Given the description of an element on the screen output the (x, y) to click on. 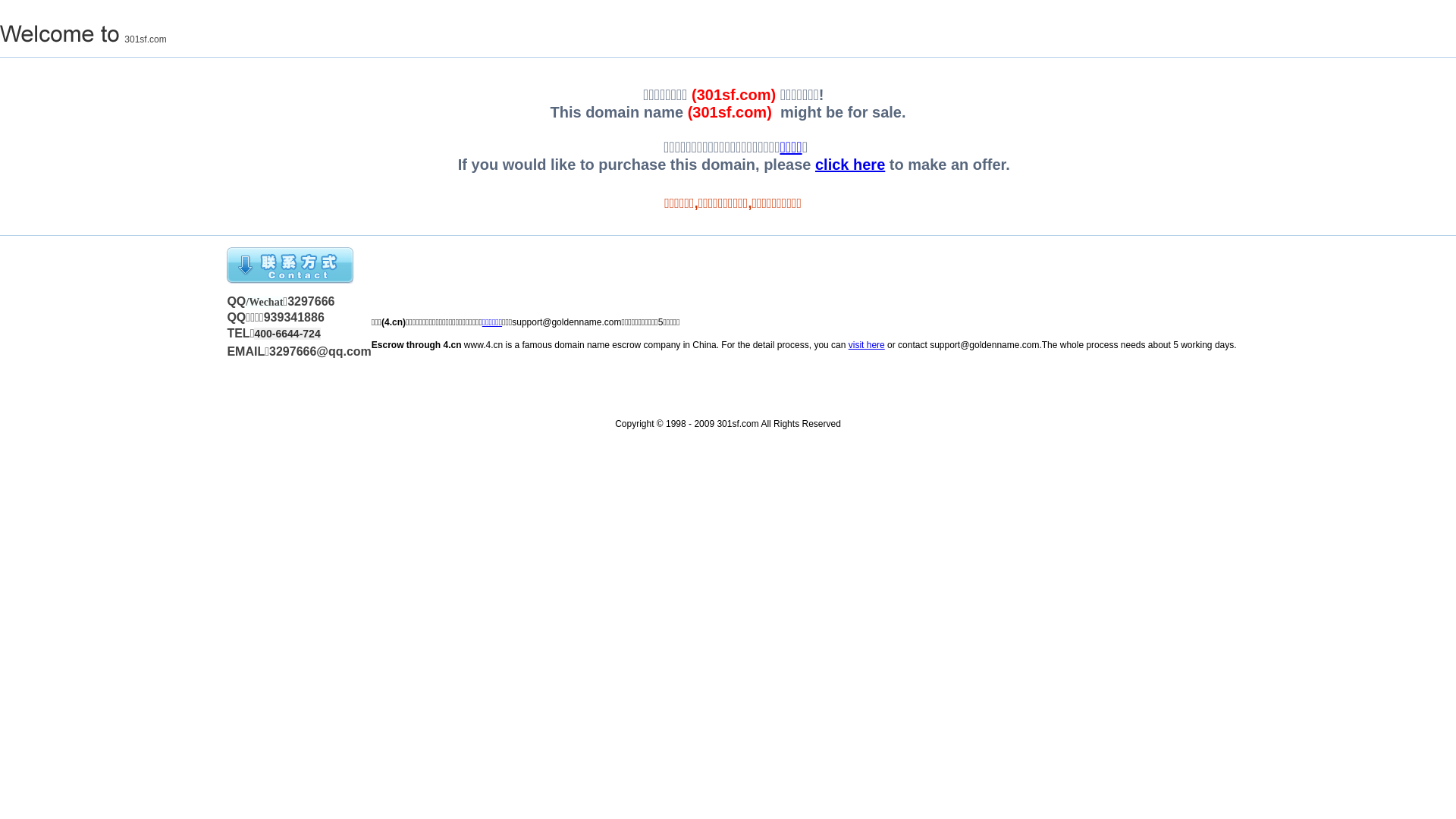
click here Element type: text (849, 164)
visit here Element type: text (866, 344)
